Given the description of an element on the screen output the (x, y) to click on. 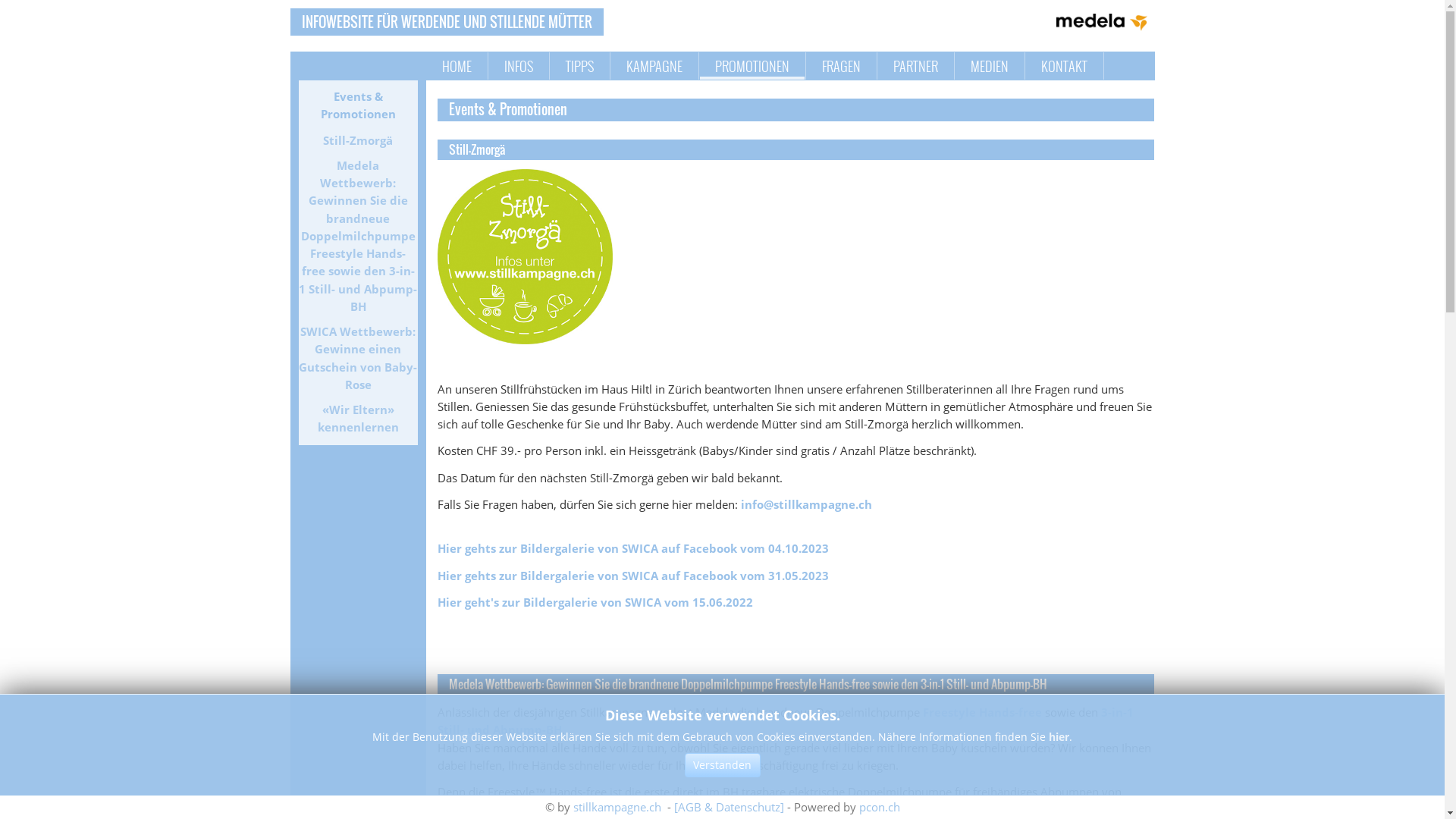
Events & Promotionen Element type: text (357, 105)
MEDIEN Element type: text (989, 65)
PARTNER Element type: text (915, 65)
HOME Element type: text (456, 65)
3-in-1 Still- und Abpump-BH Element type: text (785, 720)
stillkampagne.ch Element type: text (617, 806)
[AGB & Datenschutz] Element type: text (728, 806)
PROMOTIONEN Element type: text (751, 65)
KAMPAGNE Element type: text (654, 65)
pcon.ch Element type: text (878, 806)
TIPPS Element type: text (579, 65)
info@stillkampagne.ch Element type: text (806, 503)
Hier geht's zur Bildergalerie von SWICA vom 15.06.2022 Element type: text (595, 601)
hier Element type: text (1058, 736)
INFOS Element type: text (517, 65)
SWICA Wettbewerb: Gewinne einen Gutschein von Baby-Rose Element type: text (357, 357)
FRAGEN Element type: text (840, 65)
KONTAKT Element type: text (1063, 65)
Freestyle Hands-free Element type: text (981, 711)
